Given the description of an element on the screen output the (x, y) to click on. 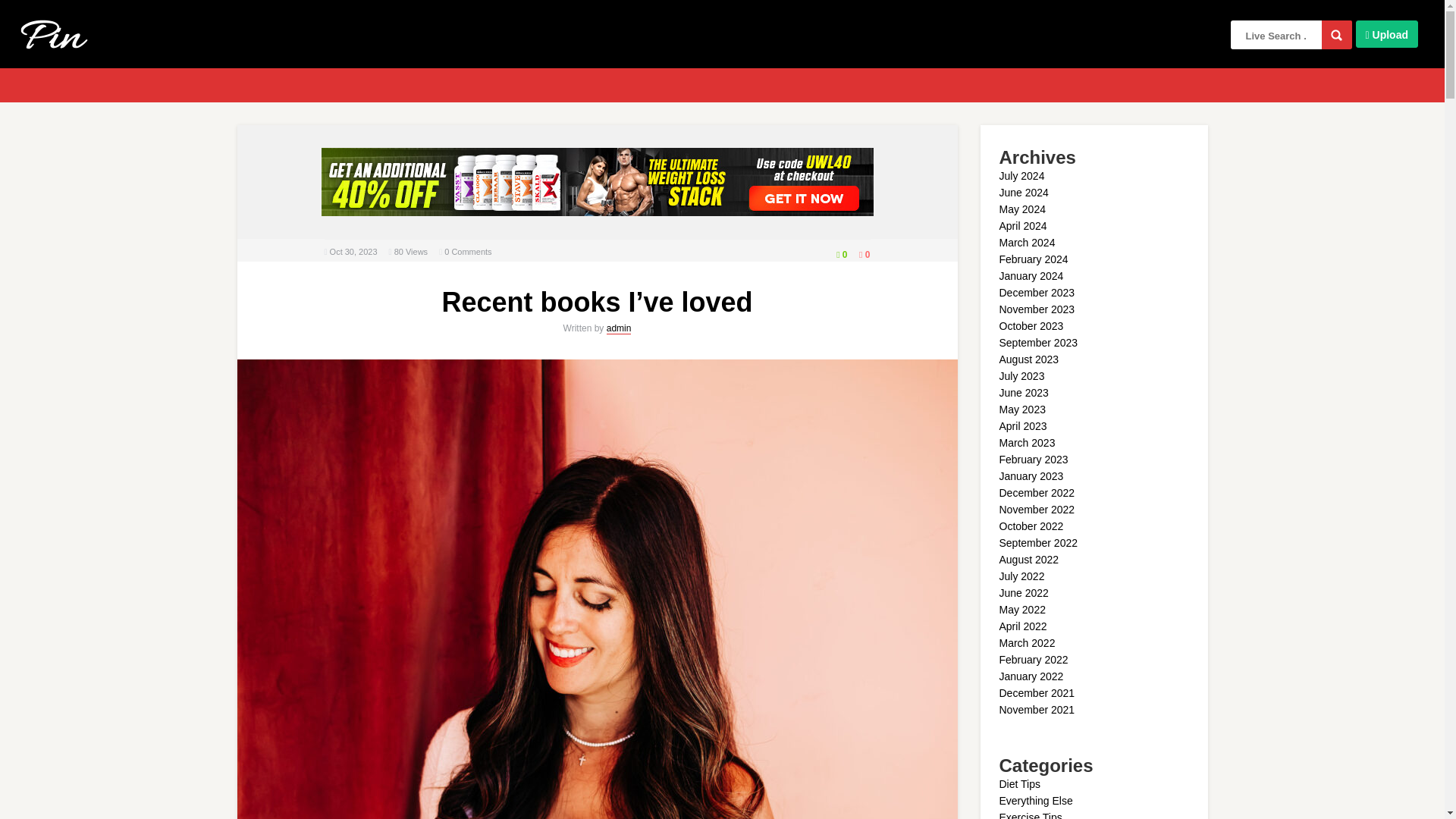
Posts by admin (619, 328)
0 Comments (468, 251)
Search (1337, 34)
admin (619, 328)
Upload (1386, 33)
Search (1337, 34)
